Given the description of an element on the screen output the (x, y) to click on. 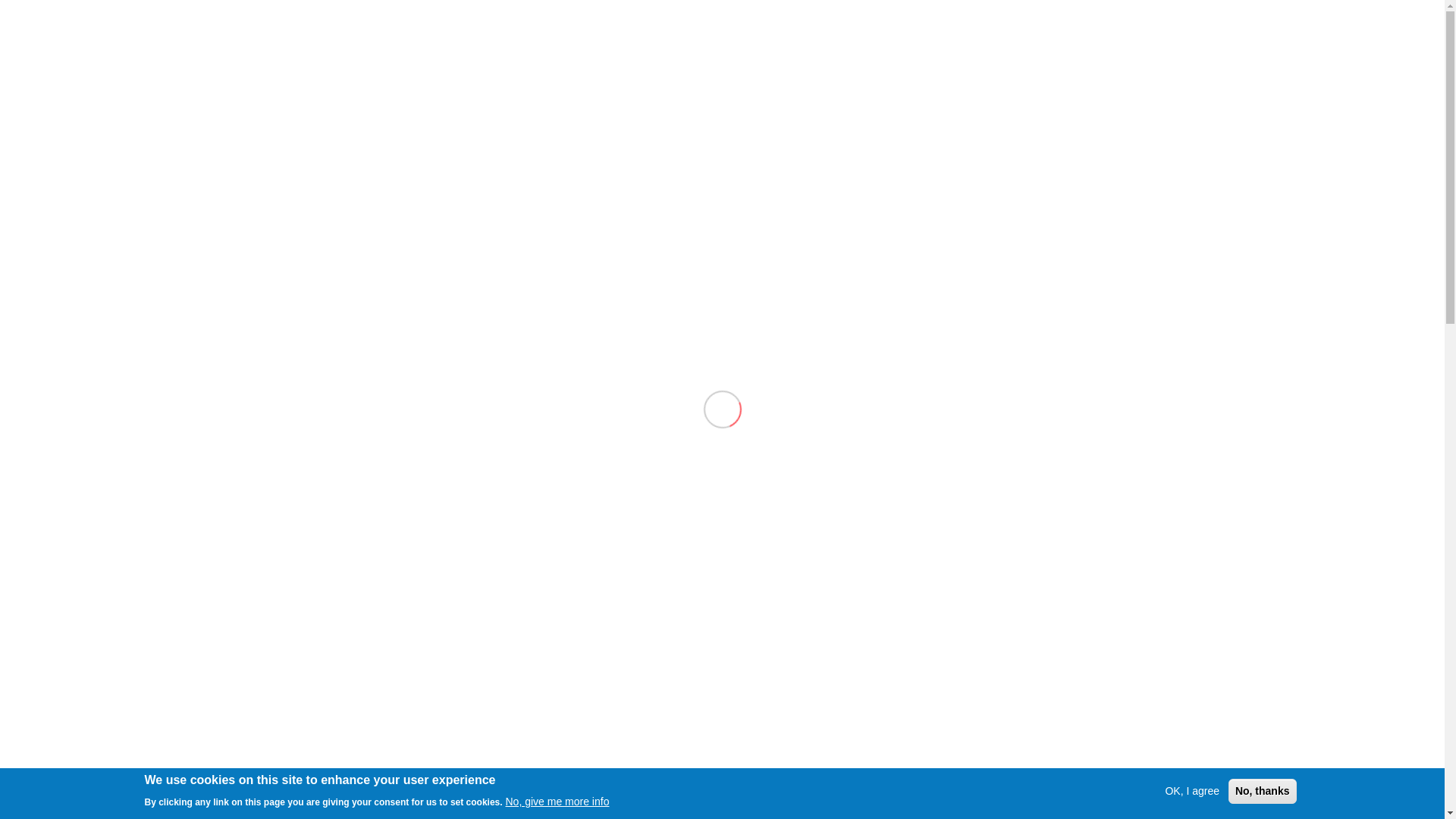
Tours (1113, 38)
Our Fleet (1215, 38)
About us (1161, 38)
13 Sep 2018 (358, 417)
Cart (1413, 29)
Contact (1267, 38)
Home (1036, 38)
Malta (1075, 38)
